Given the description of an element on the screen output the (x, y) to click on. 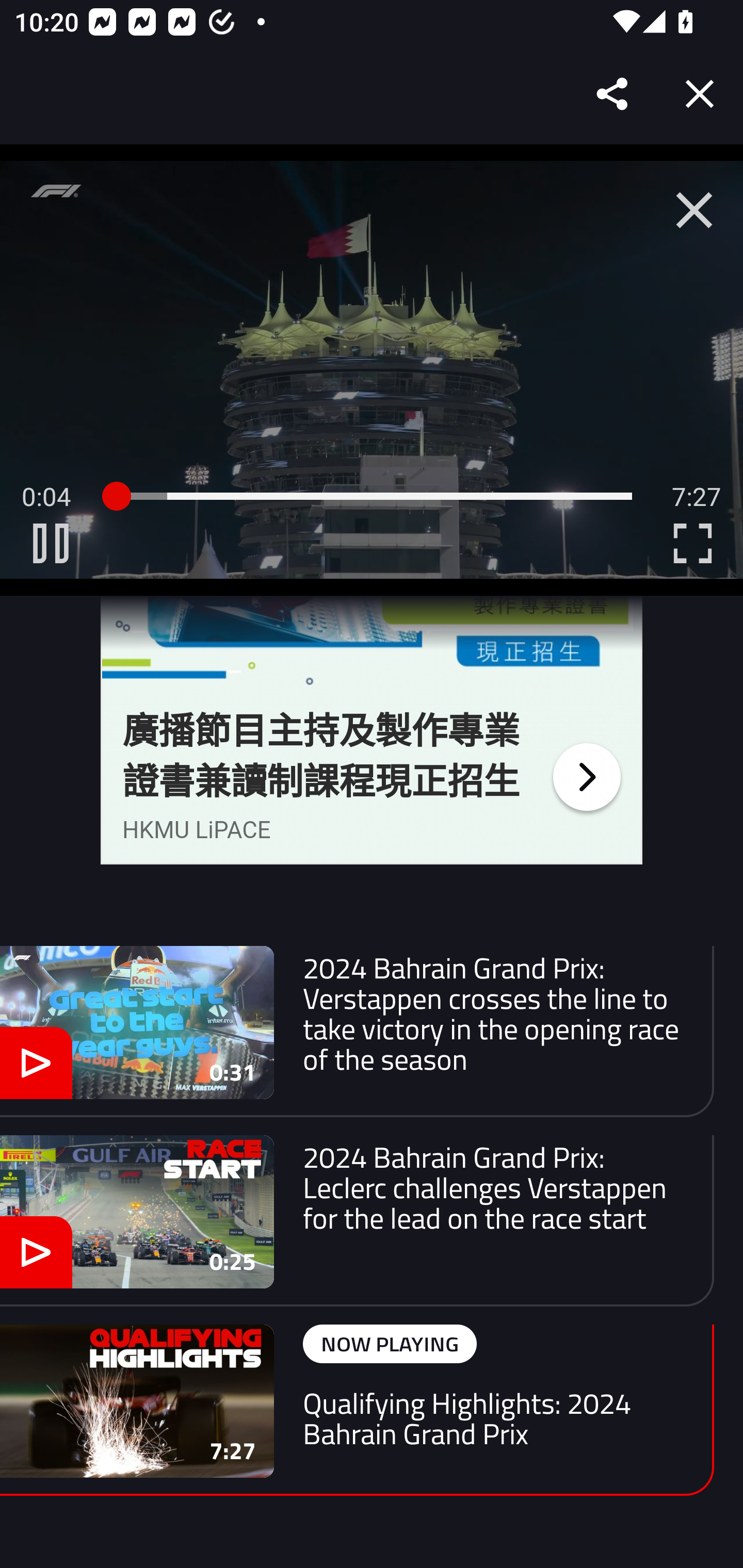
Share (612, 93)
Close (699, 93)
 Close (693, 210)
B Pause (50, 543)
C Enter Fullscreen (692, 543)
廣播節目主持及製作專業 證書兼讀制課程現正招生 廣播節目主持及製作專業 證書兼讀制課程現正招生 (321, 756)
%3Flce%3DGDN_B2023_01 (586, 776)
HKMU LiPACE (196, 829)
